Given the description of an element on the screen output the (x, y) to click on. 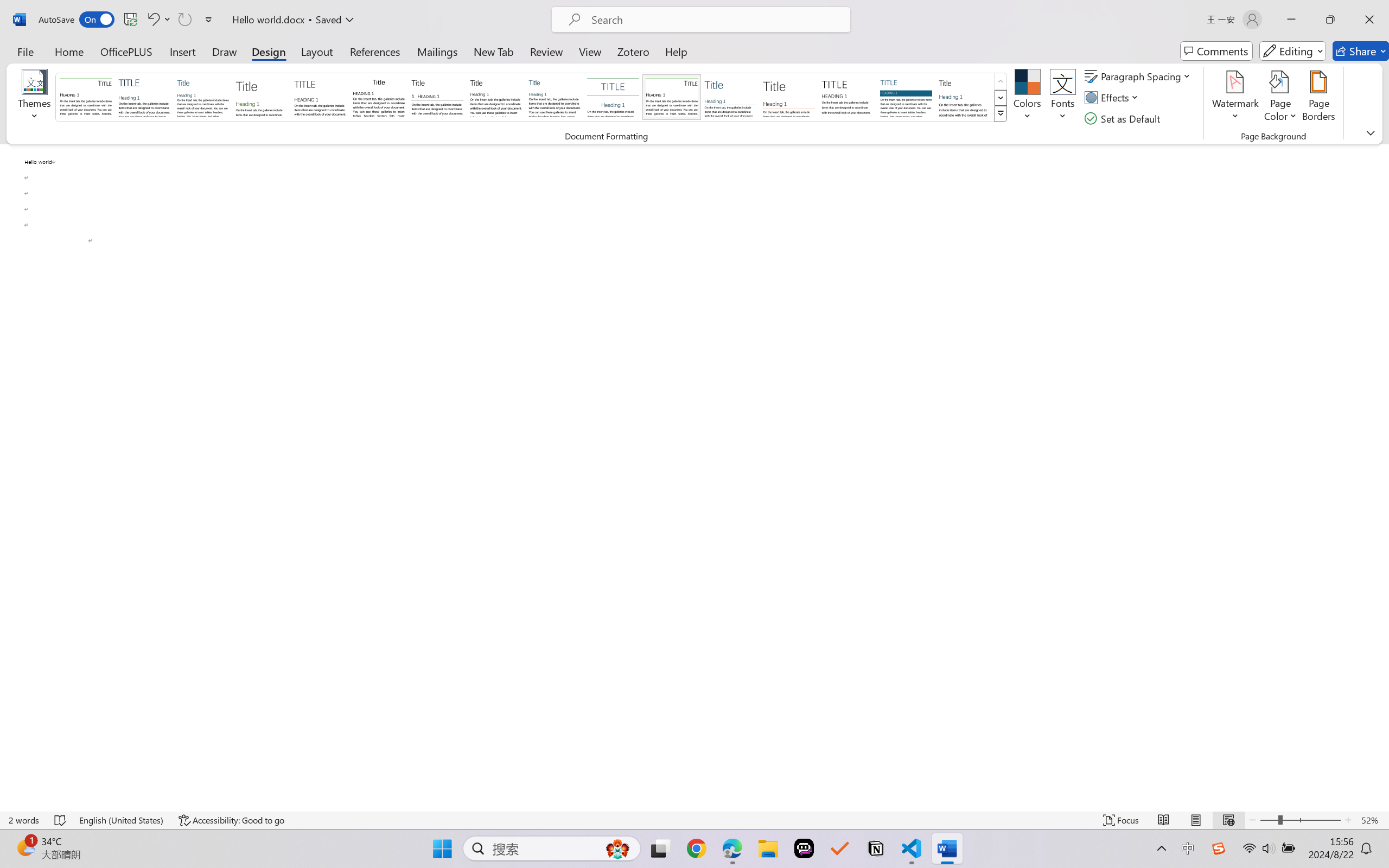
Lines (Distinctive) (671, 96)
Black & White (Word 2013) (495, 96)
Black & White (Numbered) (437, 96)
Close (1369, 19)
Fonts (1062, 97)
Share (1360, 51)
Basic (Elegant) (144, 96)
Draw (224, 51)
Zoom 52% (1372, 819)
Layout (316, 51)
Microsoft search (715, 19)
Page Borders... (1318, 97)
Class: NetUIImage (1000, 114)
